Given the description of an element on the screen output the (x, y) to click on. 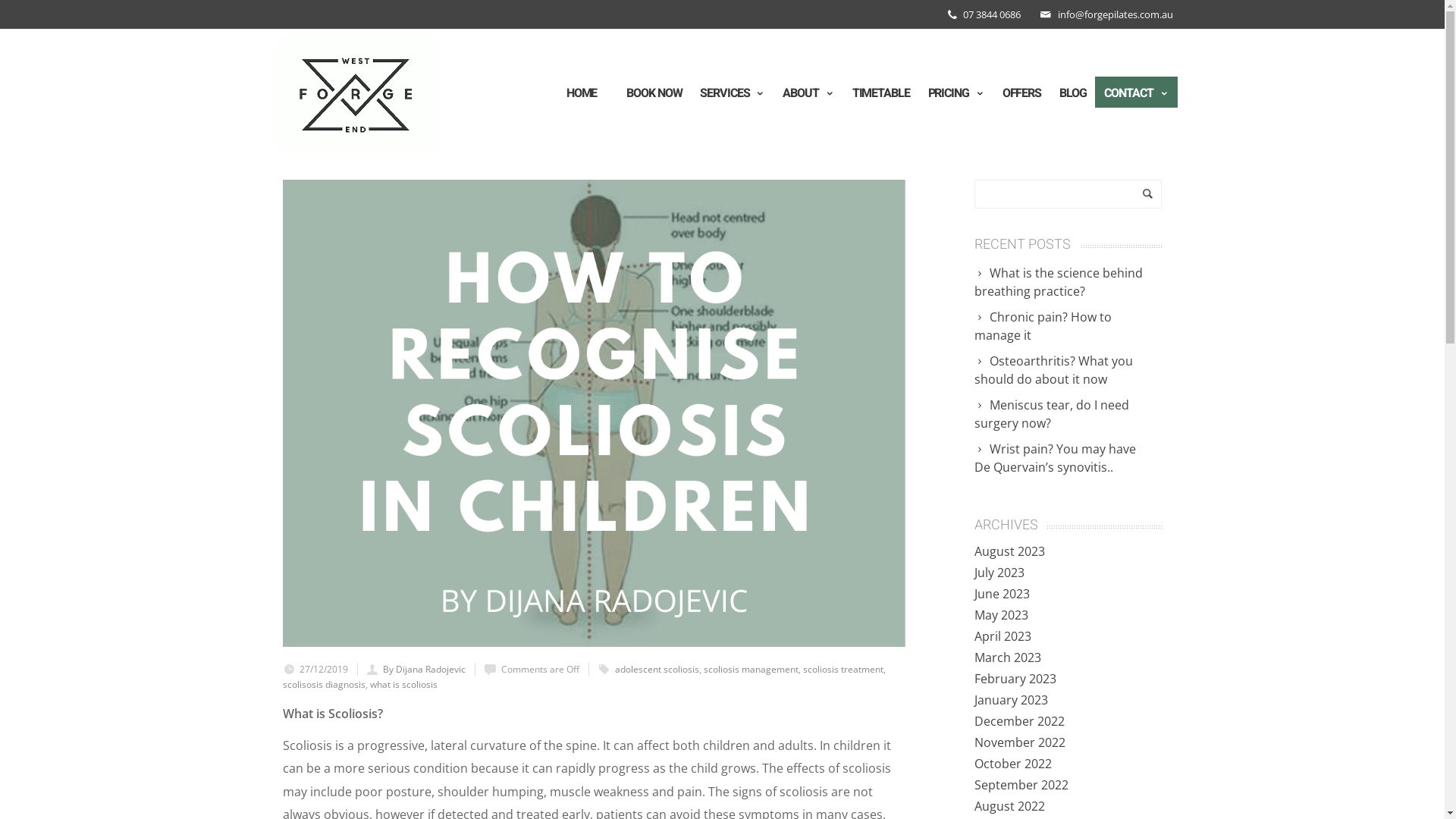
HOME Element type: text (581, 91)
ABOUT Element type: text (807, 91)
PRICING Element type: text (956, 91)
Search Element type: text (722, 14)
By Dijana Radojevic Element type: text (423, 668)
July 2023 Element type: text (999, 572)
October 2022 Element type: text (1012, 763)
January 2023 Element type: text (1011, 699)
scolisosis diagnosis Element type: text (323, 683)
07 3844 0686 Element type: text (991, 14)
info@forgepilates.com.au Element type: text (1114, 14)
What is the science behind breathing practice? Element type: text (1068, 281)
SERVICES Element type: text (731, 91)
February 2023 Element type: text (1015, 678)
Meniscus tear, do I need surgery now? Element type: text (1068, 413)
March 2023 Element type: text (1007, 657)
How to recognize Scoliosis in Children Element type: hover (593, 412)
Osteoarthritis? What you should do about it now Element type: text (1068, 369)
May 2023 Element type: text (1001, 614)
OFFERS Element type: text (1021, 91)
June 2023 Element type: text (1001, 593)
August 2023 Element type: text (1009, 550)
December 2022 Element type: text (1019, 720)
August 2022 Element type: text (1009, 805)
scoliosis management Element type: text (750, 668)
BLOG Element type: text (1072, 91)
CONTACT Element type: text (1135, 91)
Chronic pain? How to manage it Element type: text (1068, 325)
April 2023 Element type: text (1002, 635)
adolescent scoliosis Element type: text (656, 668)
TIMETABLE Element type: text (881, 91)
scoliosis treatment Element type: text (842, 668)
September 2022 Element type: text (1021, 784)
November 2022 Element type: text (1019, 742)
BOOK NOW Element type: text (653, 91)
what is scoliosis Element type: text (403, 683)
